Given the description of an element on the screen output the (x, y) to click on. 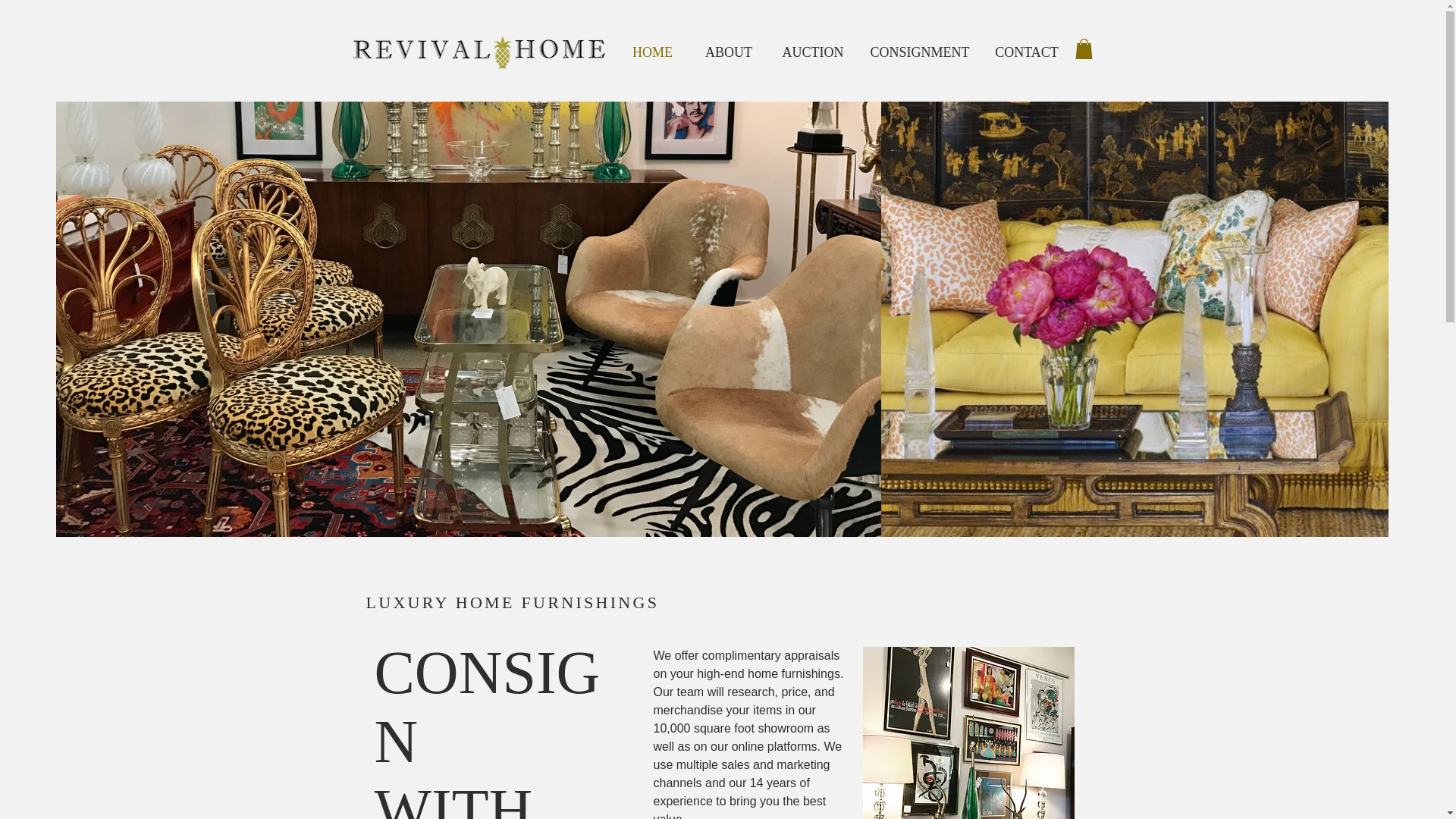
CONTACT (1026, 52)
CONSIGNMENT (920, 52)
ABOUT (729, 52)
AUCTION (812, 52)
HOME (652, 52)
